Given the description of an element on the screen output the (x, y) to click on. 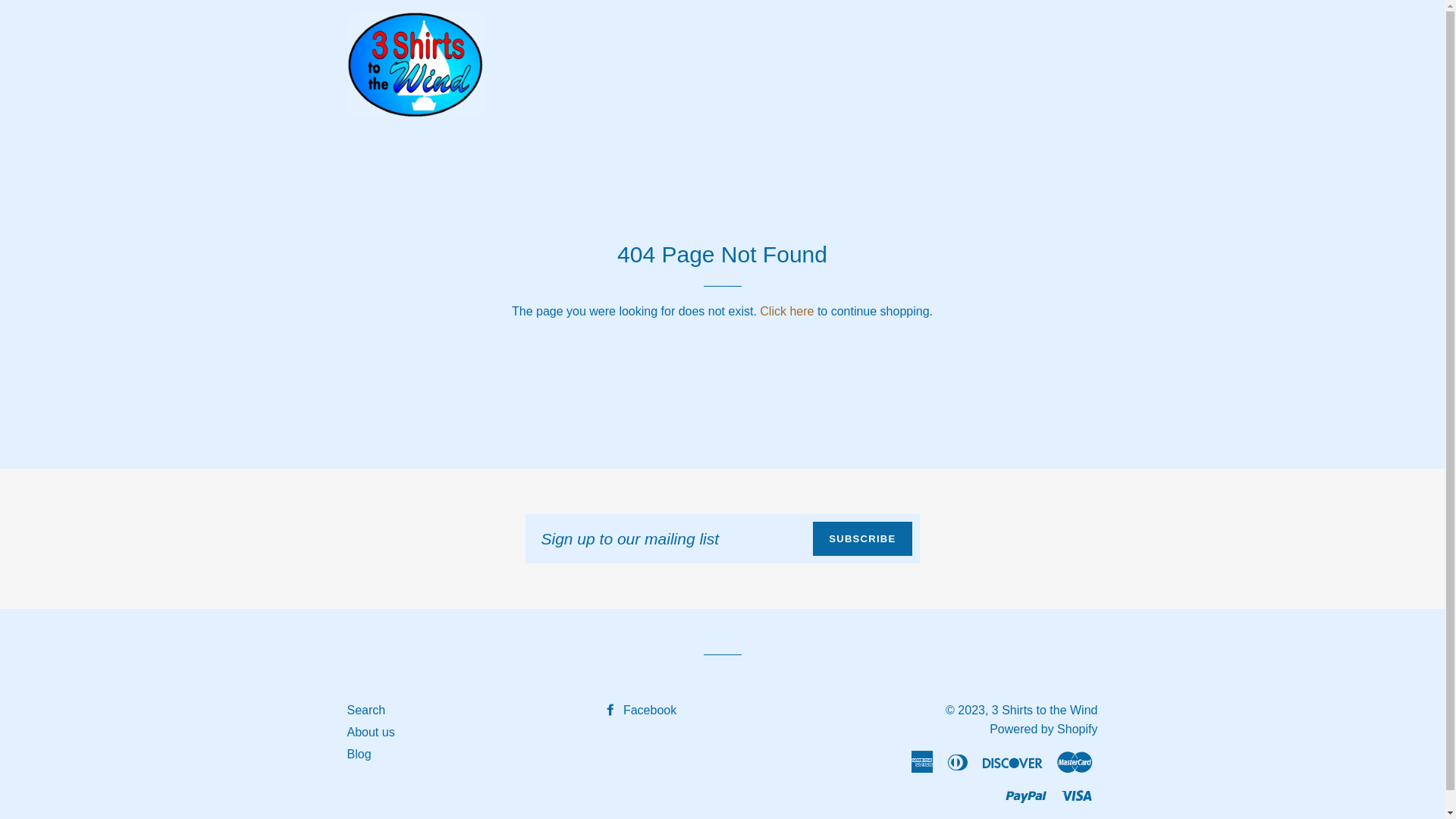
Blog Element type: text (359, 753)
Click here Element type: text (786, 310)
Facebook Element type: text (640, 709)
Powered by Shopify Element type: text (1043, 728)
SUBSCRIBE Element type: text (861, 538)
3 Shirts to the Wind Element type: text (1044, 709)
Search Element type: text (366, 709)
About us Element type: text (371, 731)
